Given the description of an element on the screen output the (x, y) to click on. 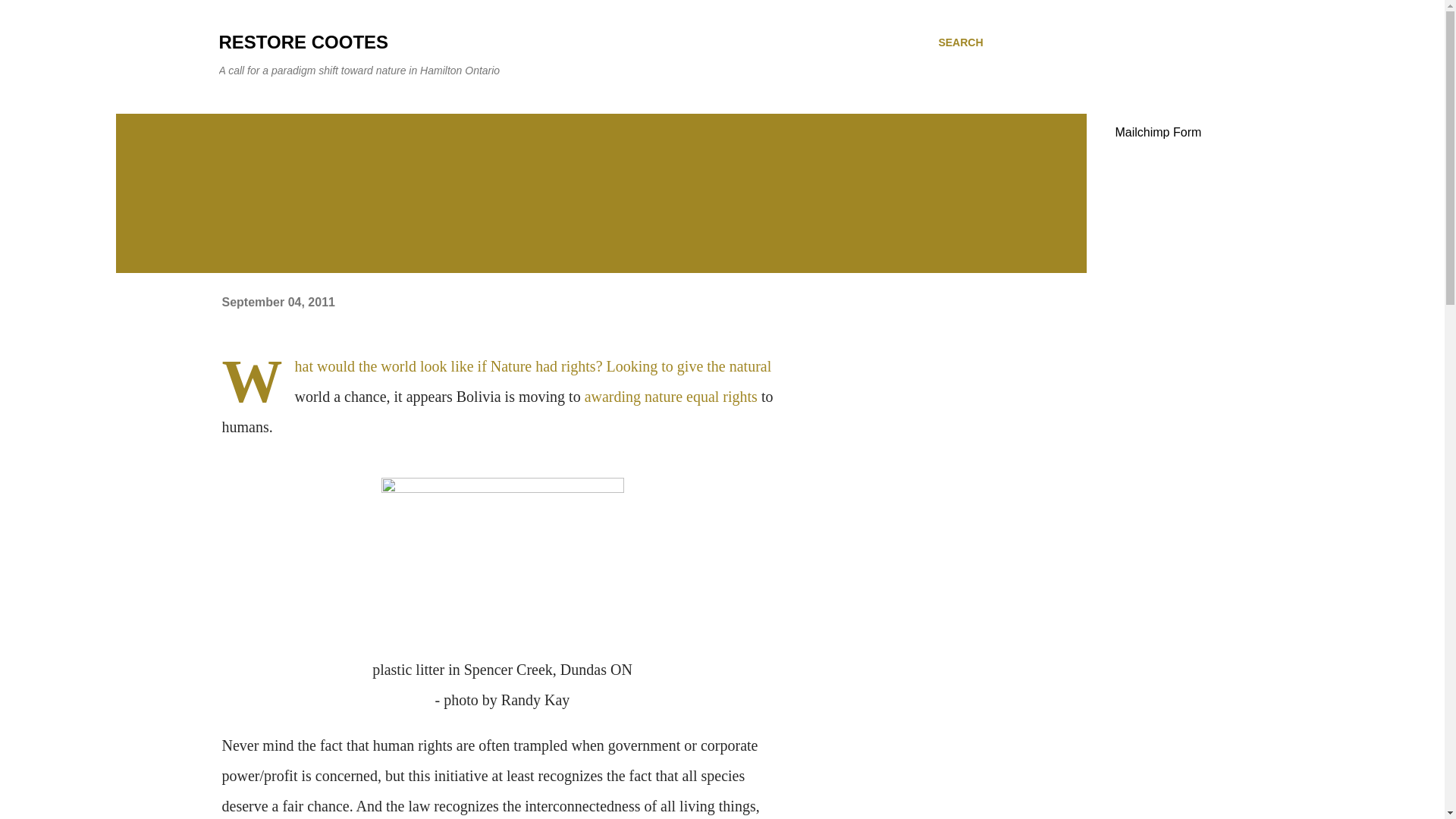
September 04, 2011 (277, 301)
SEARCH (959, 42)
RESTORE COOTES (303, 41)
awarding nature equal rights (671, 396)
permanent link (277, 301)
